Given the description of an element on the screen output the (x, y) to click on. 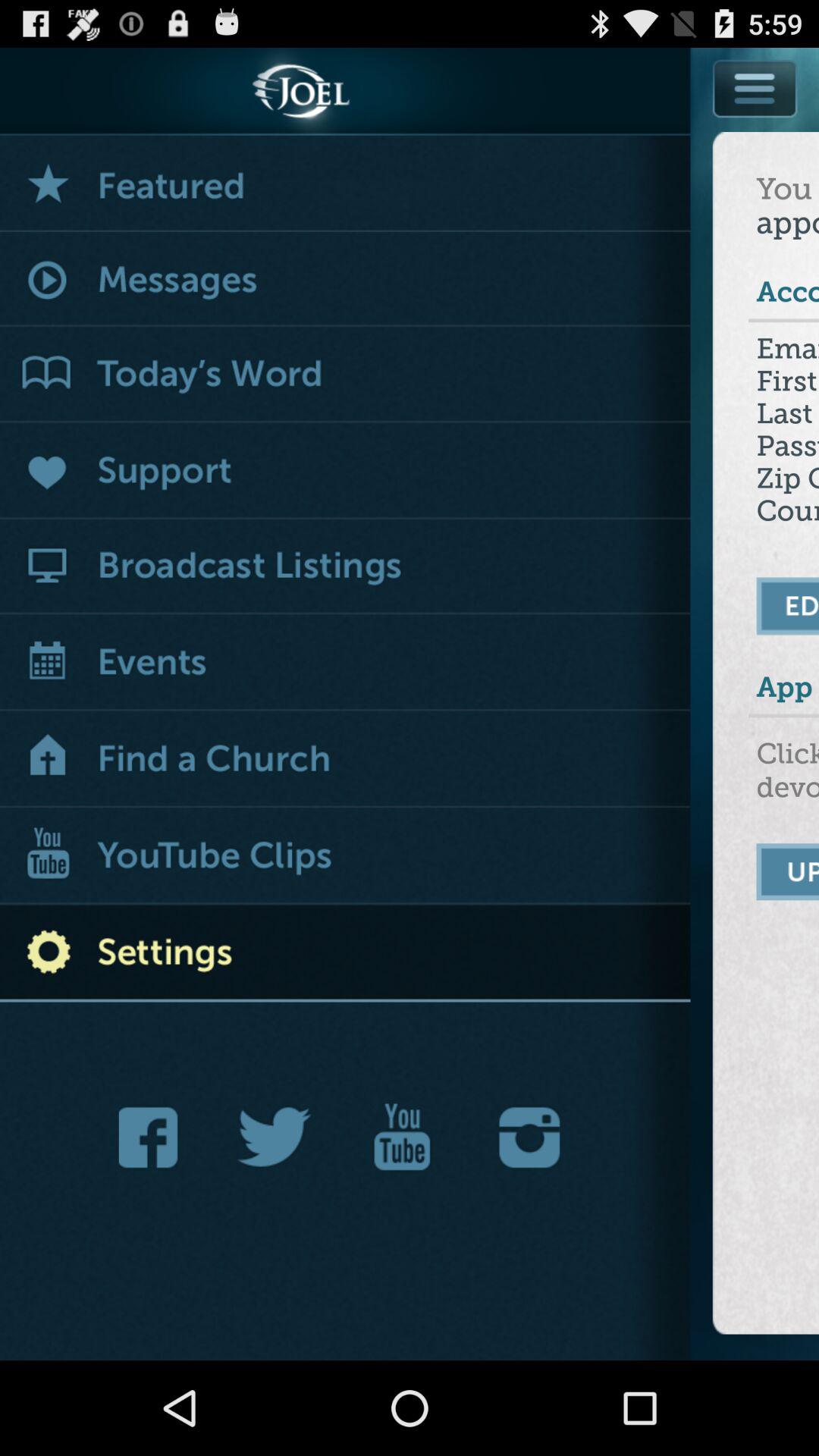
click on the camera or instagram symbol (529, 1137)
click on the twitter website image option (274, 1137)
click on the first icon in the bottom left (152, 1137)
